Given the description of an element on the screen output the (x, y) to click on. 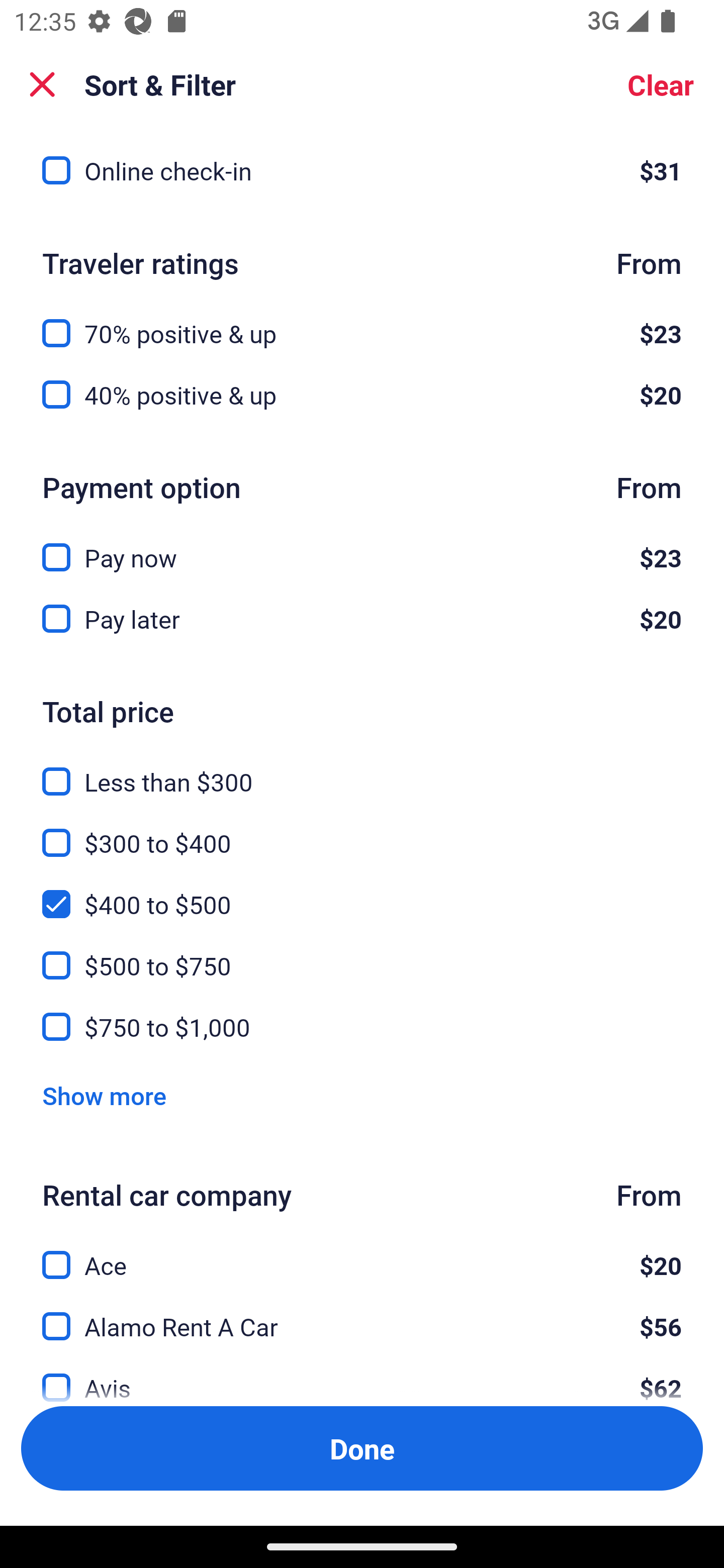
Close Sort and Filter (42, 84)
Clear (660, 84)
Online check-in, $31 Online check-in $31 (361, 170)
70% positive & up, $23 70% positive & up $23 (361, 321)
40% positive & up, $20 40% positive & up $20 (361, 394)
Pay now, $23 Pay now $23 (361, 546)
Pay later, $20 Pay later $20 (361, 619)
Less than $300, Less than $300 (361, 770)
$300 to $400, $300 to $400 (361, 831)
$400 to $500, $400 to $500 (361, 892)
$500 to $750, $500 to $750 (361, 953)
$750 to $1,000, $750 to $1,000 (361, 1026)
Show more Show more Link (103, 1095)
Ace, $20 Ace $20 (361, 1253)
Alamo Rent A Car, $56 Alamo Rent A Car $56 (361, 1314)
Avis, $62 Avis $62 (361, 1375)
Apply and close Sort and Filter Done (361, 1448)
